Given the description of an element on the screen output the (x, y) to click on. 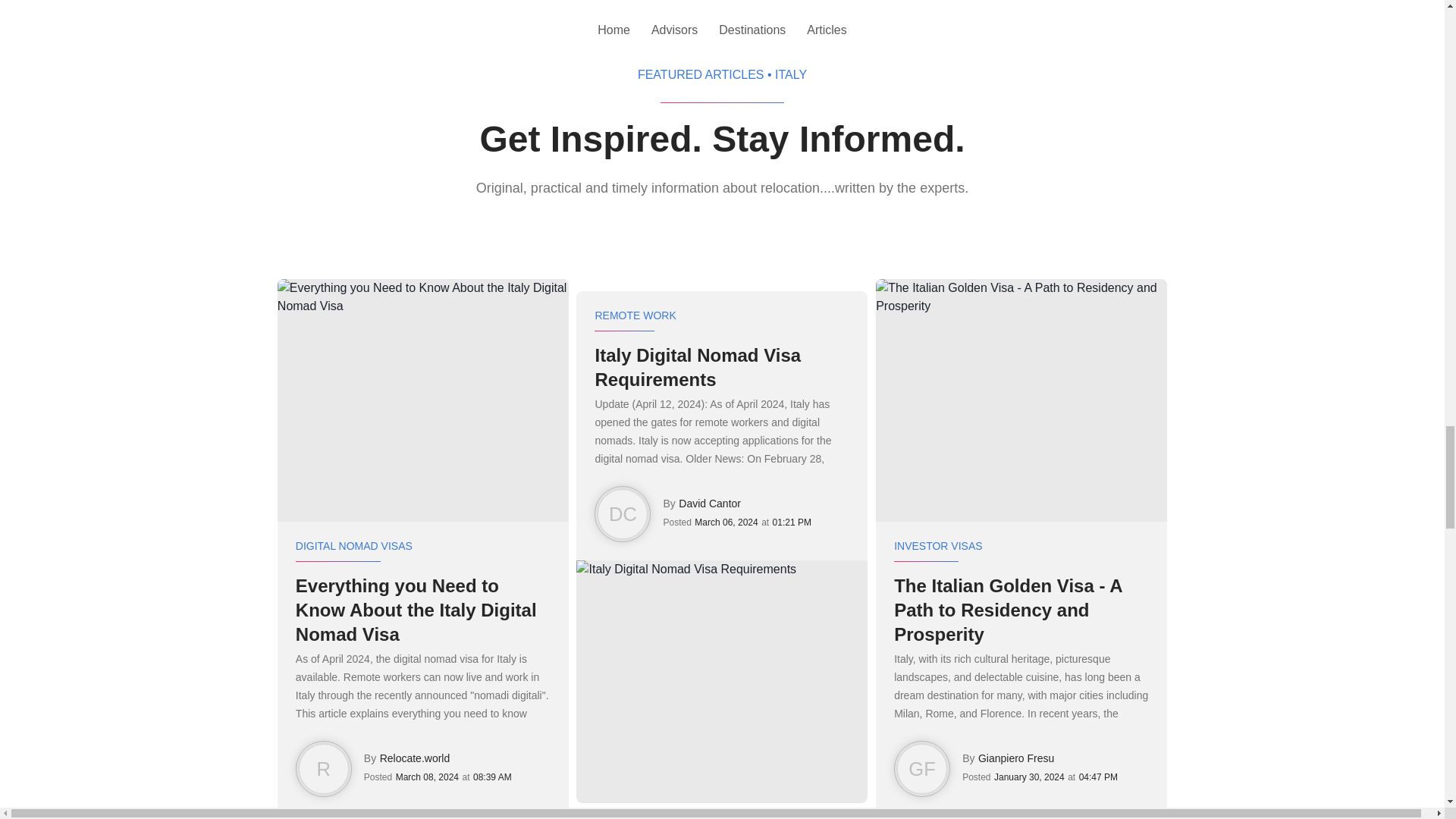
The Italian Golden Visa - A Path to Residency and Prosperity (1020, 609)
Italy Digital Nomad Visa Requirements (721, 367)
